Given the description of an element on the screen output the (x, y) to click on. 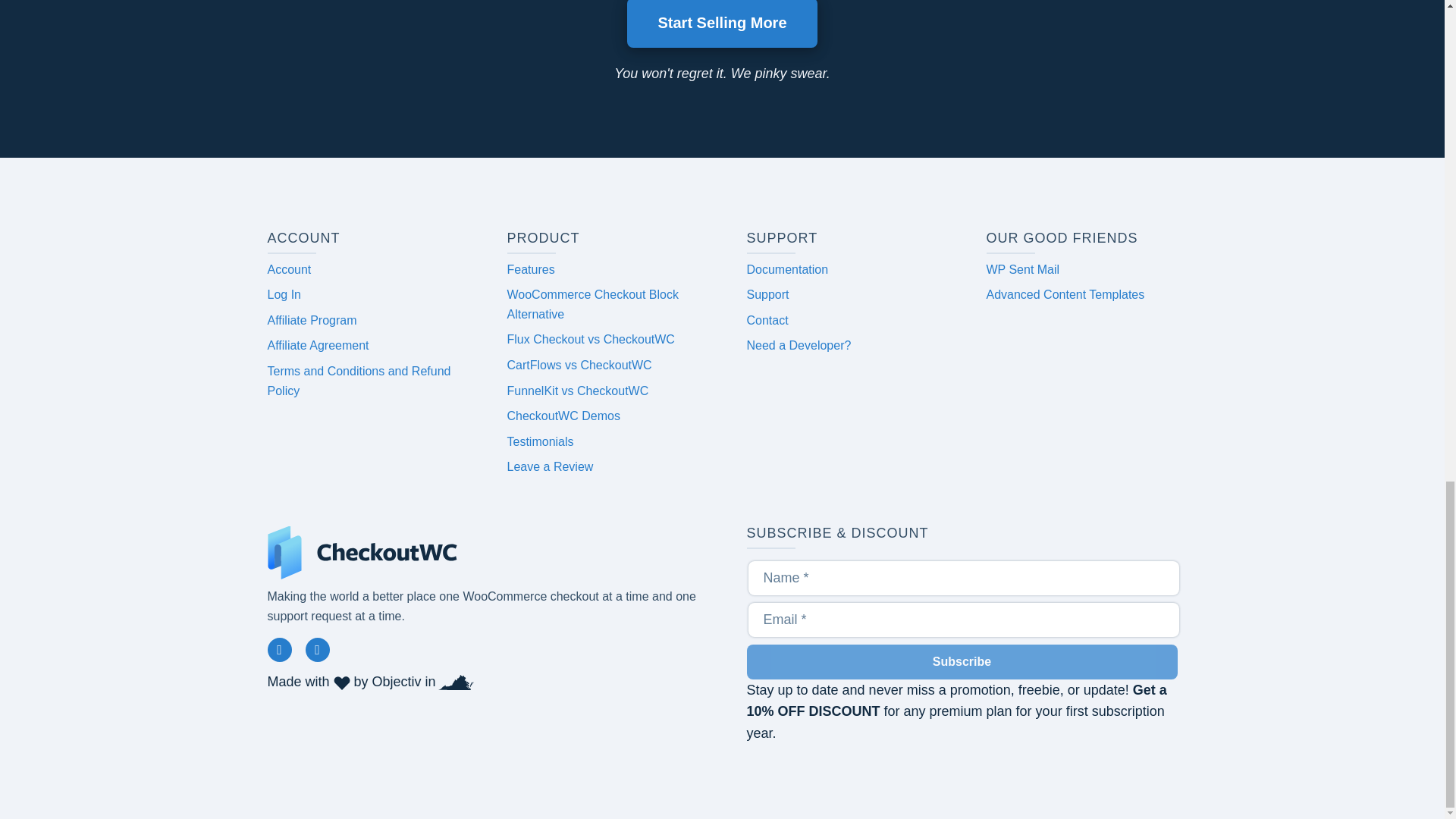
Start Selling More (721, 23)
CheckoutWC Demos (563, 415)
WP Sent Mail (1022, 269)
Testimonials (539, 440)
Contact (766, 319)
WooCommerce Checkout Block Alternative (592, 304)
Terms and Conditions and Refund Policy (357, 380)
Affiliate Program (311, 319)
CartFlows vs CheckoutWC (578, 364)
Need a Developer? (797, 345)
